Given the description of an element on the screen output the (x, y) to click on. 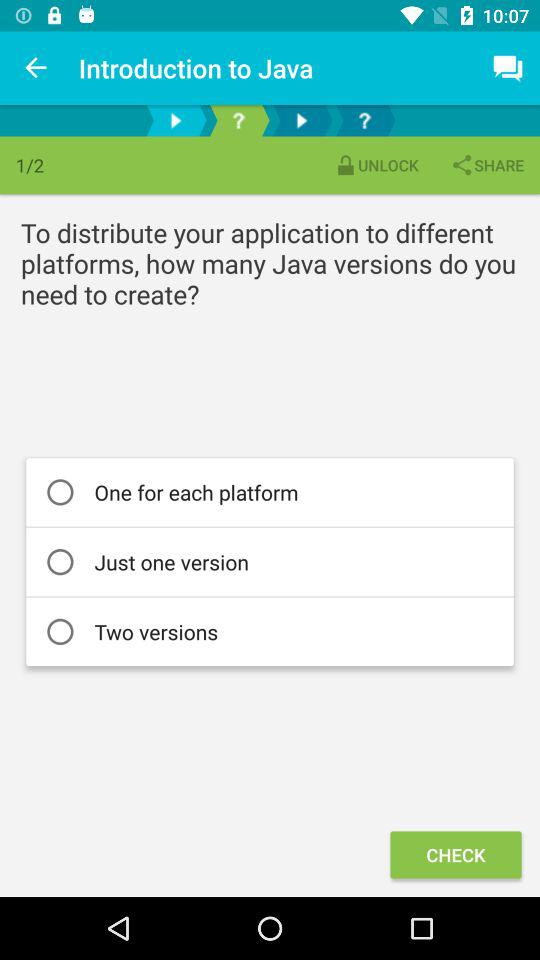
choose the check at the bottom right corner (455, 854)
